Given the description of an element on the screen output the (x, y) to click on. 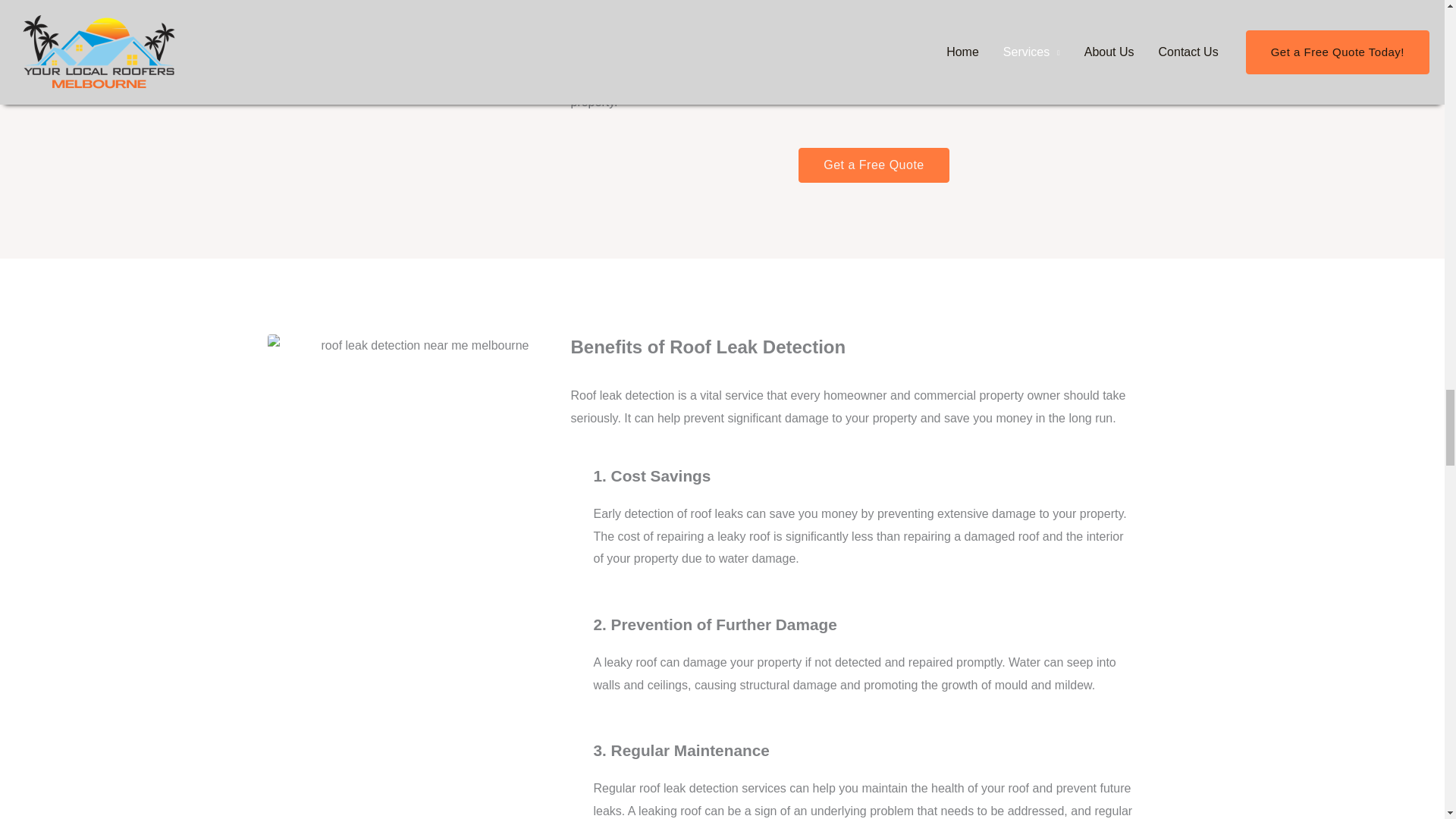
Get a Free Quote (873, 165)
Contact us (598, 78)
